Given the description of an element on the screen output the (x, y) to click on. 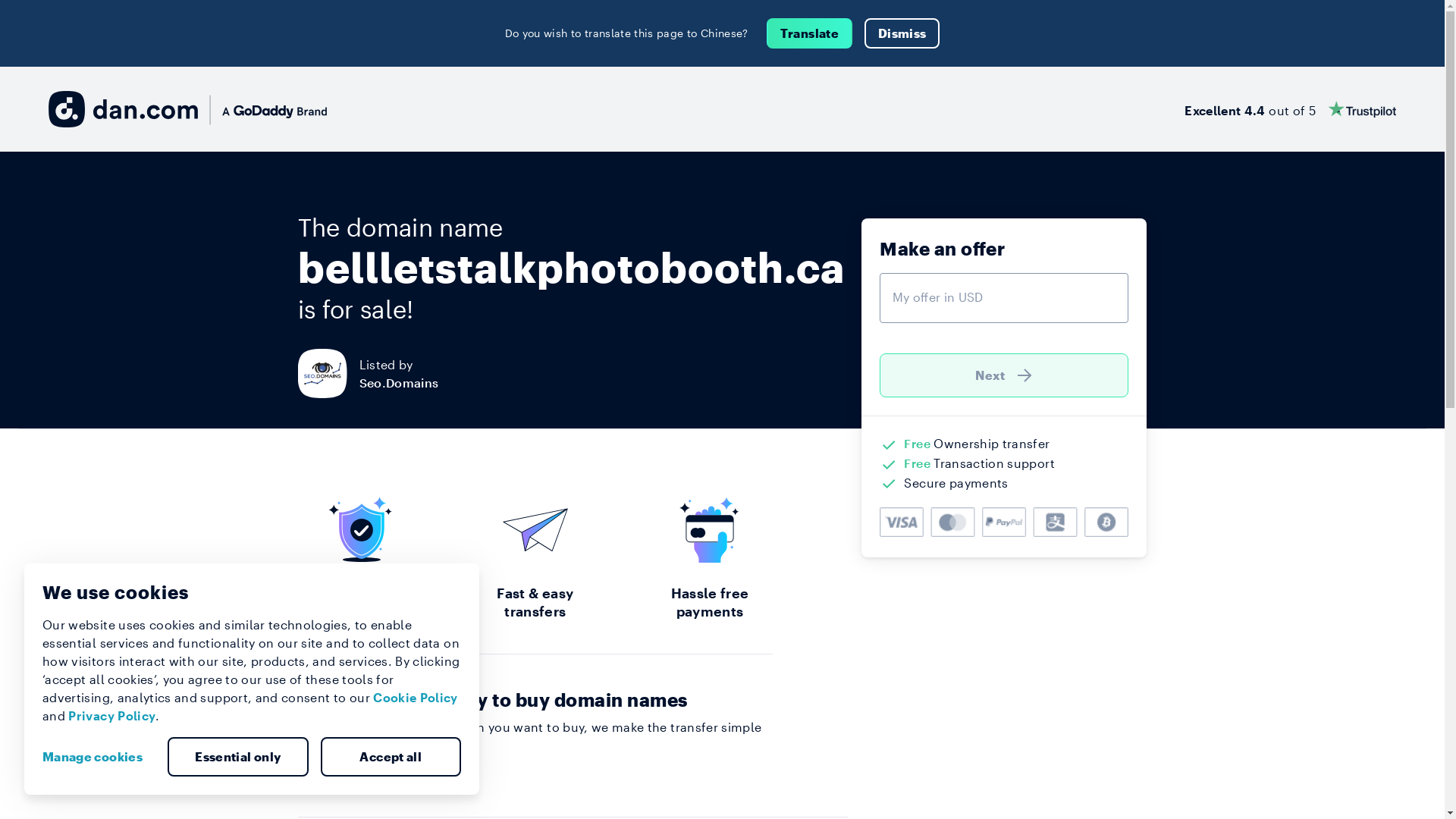
Cookie Policy Element type: text (415, 697)
Excellent 4.4 out of 5 Element type: text (1290, 109)
Accept all Element type: text (390, 756)
Dismiss Element type: text (901, 33)
Next
) Element type: text (1003, 375)
Translate Element type: text (809, 33)
Manage cookies Element type: text (98, 756)
Essential only Element type: text (237, 756)
Privacy Policy Element type: text (111, 715)
